Given the description of an element on the screen output the (x, y) to click on. 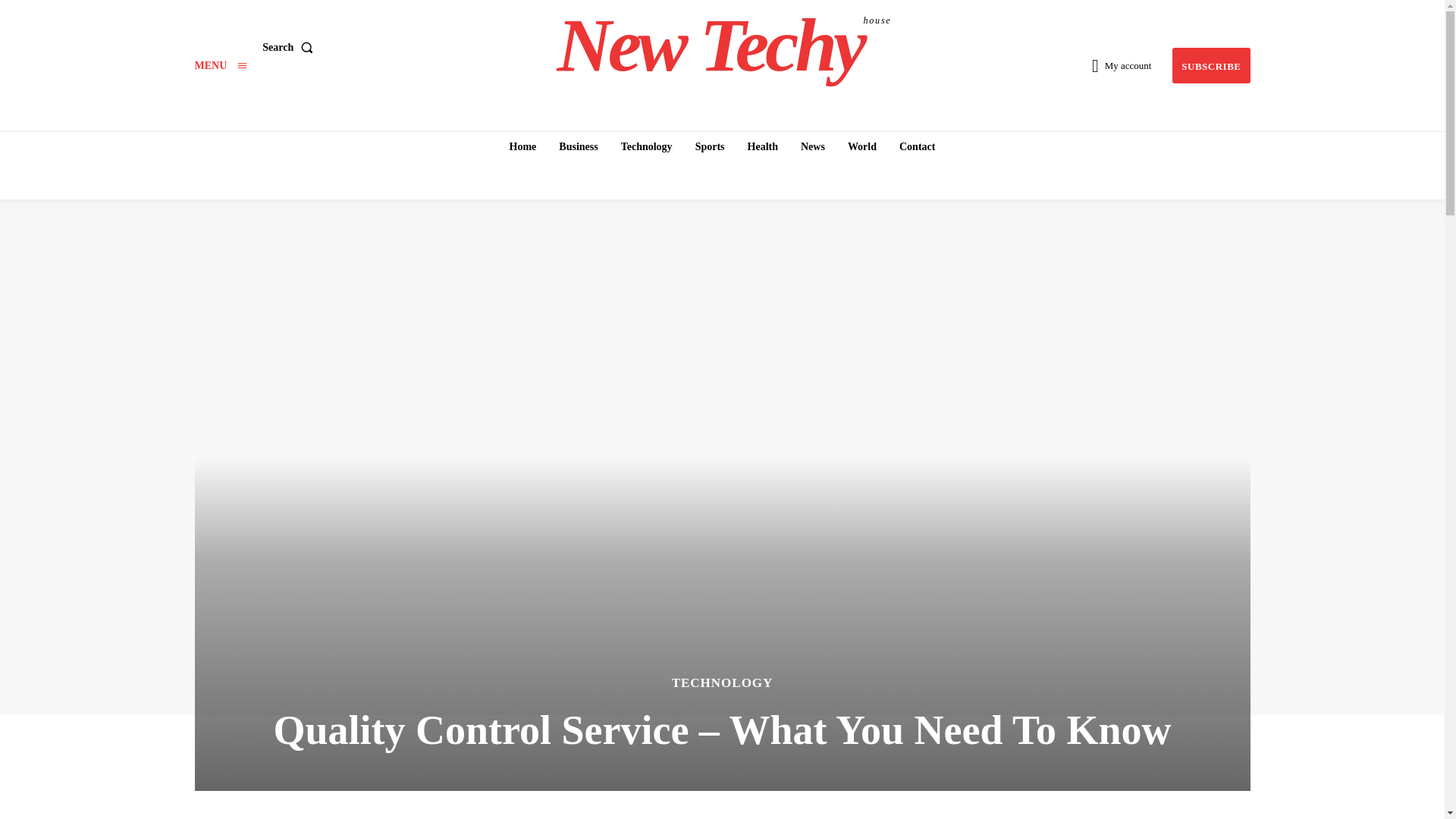
World (861, 146)
Subscribe (1210, 65)
Menu (220, 65)
MENU (220, 65)
TECHNOLOGY (722, 682)
Sports (724, 45)
Business (709, 146)
Home (578, 146)
Search (523, 146)
Contact (290, 47)
News (916, 146)
Health (812, 146)
Technology (762, 146)
SUBSCRIBE (645, 146)
